Given the description of an element on the screen output the (x, y) to click on. 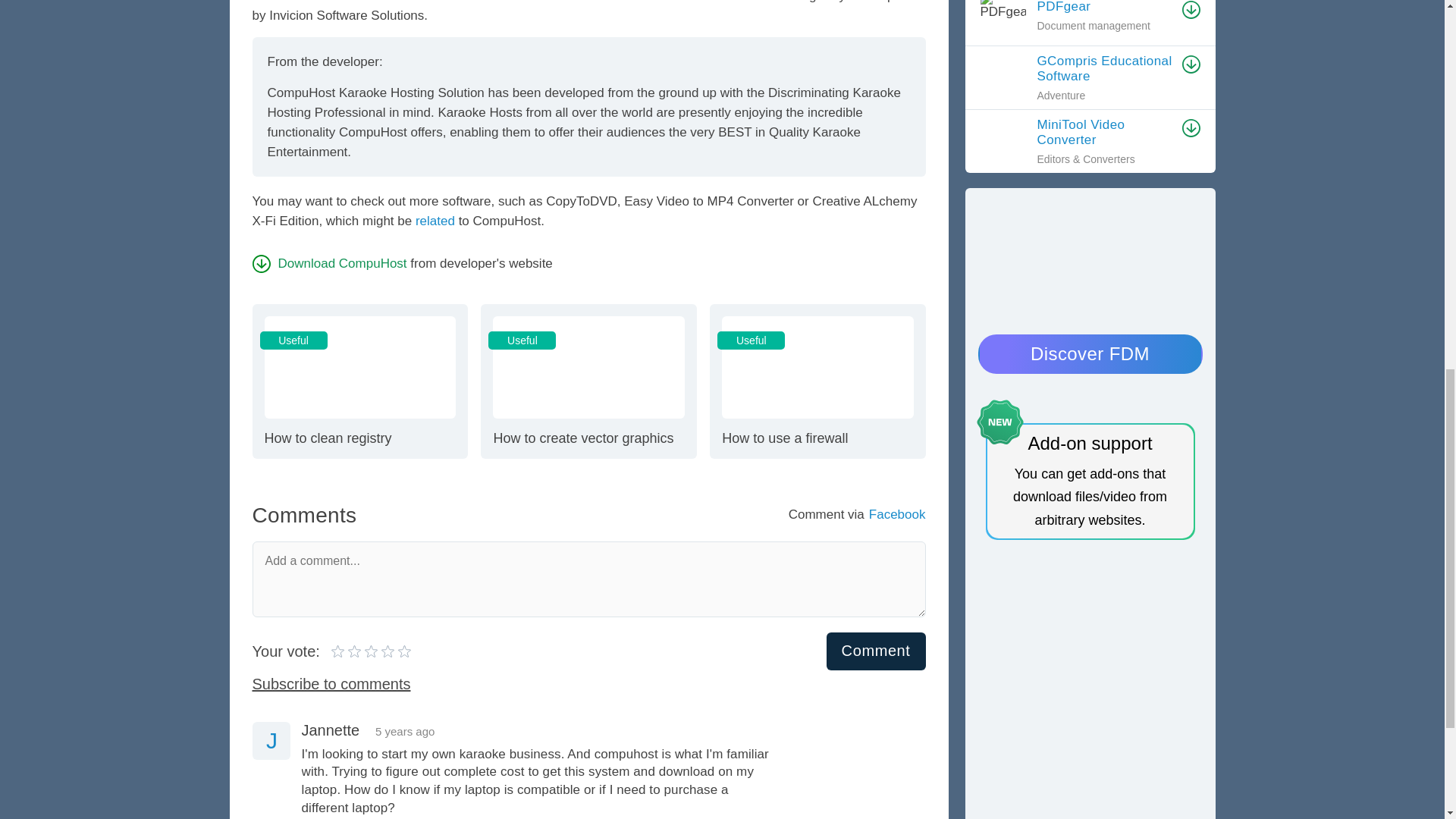
Comment (817, 380)
3 (587, 380)
related (876, 651)
4 (355, 650)
Download CompuHost (359, 380)
2 (434, 220)
Comment (363, 650)
